Given the description of an element on the screen output the (x, y) to click on. 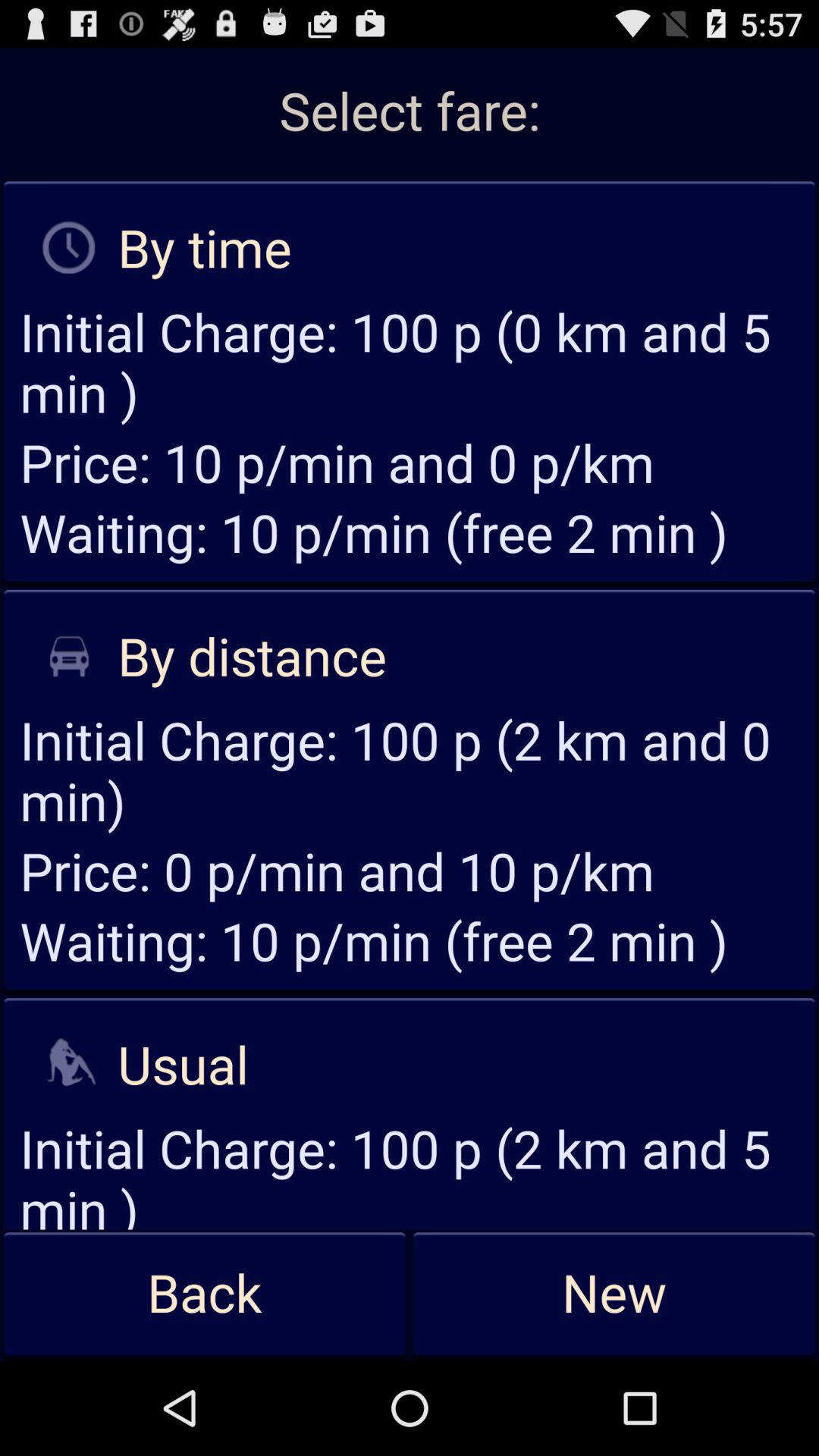
press app next to the new (204, 1294)
